Given the description of an element on the screen output the (x, y) to click on. 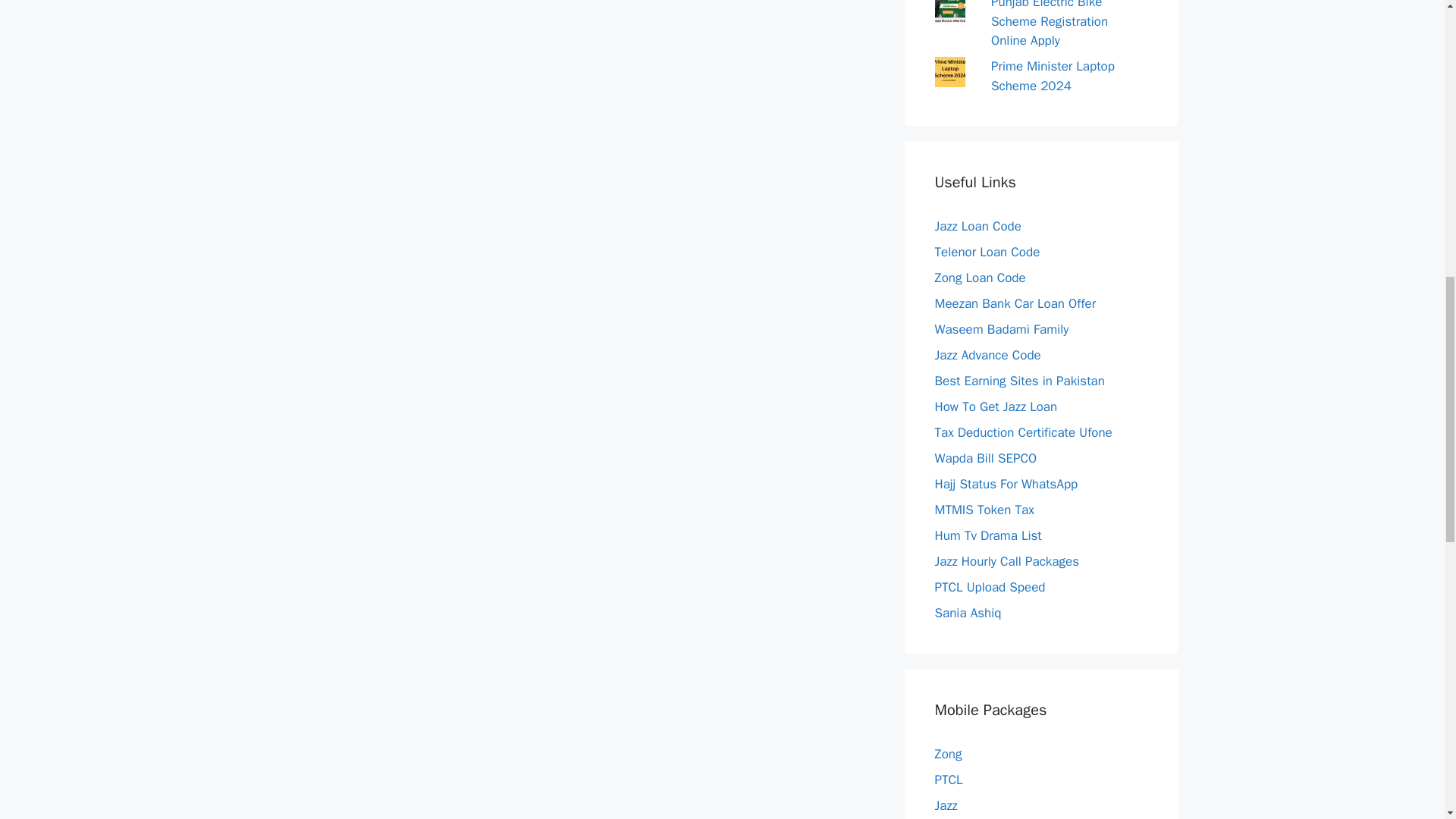
Meezan Bank Car Loan Offer (1015, 303)
Punjab Electric Bike Scheme Registration Online Apply (1049, 24)
How To Get Jazz Loan (995, 406)
Best Earning Sites in Pakistan (1018, 381)
Tax Deduction Certificate Ufone (1023, 432)
Telenor Loan Code (986, 252)
Waseem Badami Family (1001, 329)
Jazz Loan Code (977, 226)
Zong Loan Code (979, 277)
Jazz Advance Code (987, 355)
Prime Minister Laptop Scheme 2024 (1053, 76)
